Given the description of an element on the screen output the (x, y) to click on. 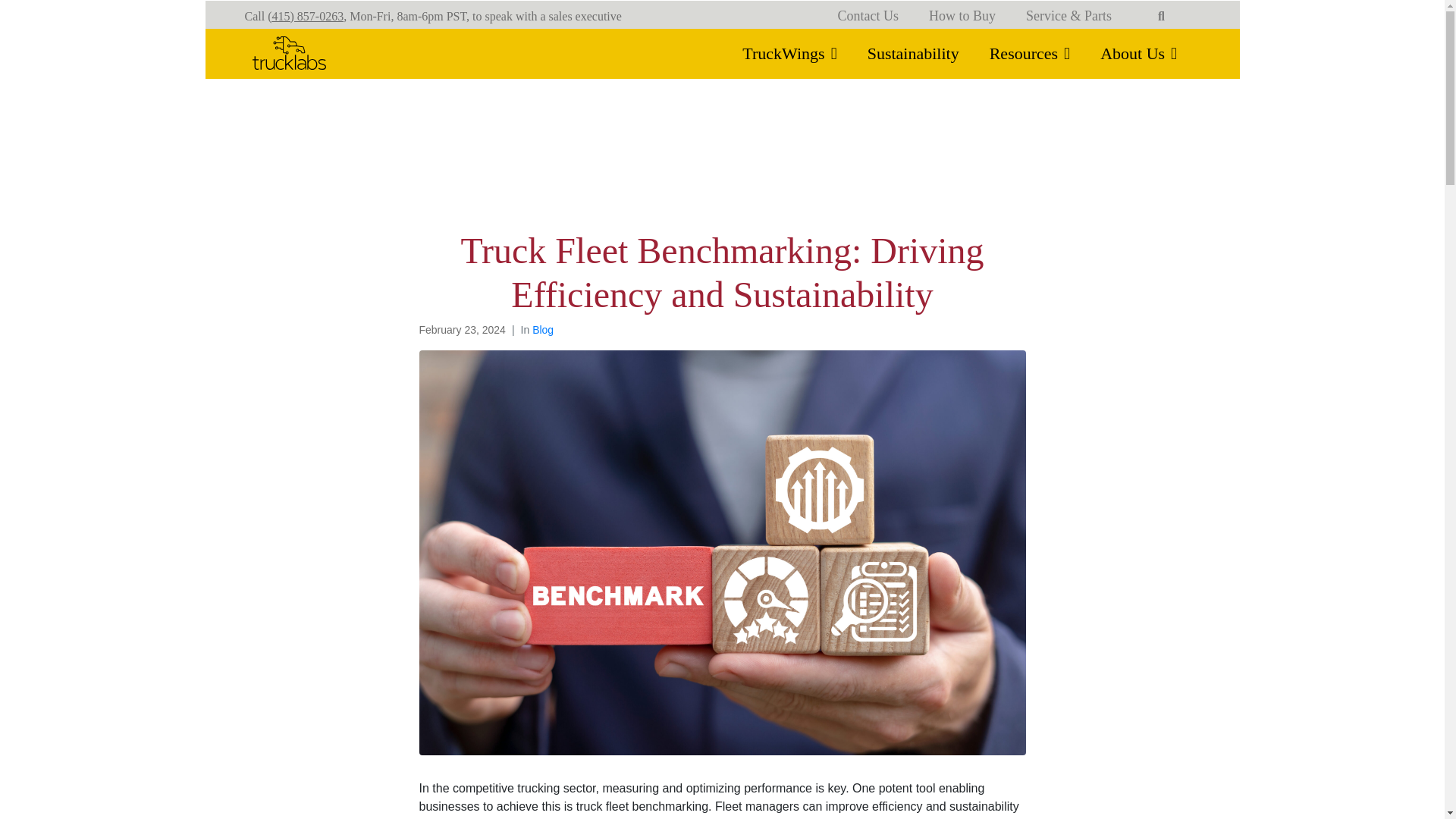
How to Buy (962, 15)
Contact Us (868, 15)
